Given the description of an element on the screen output the (x, y) to click on. 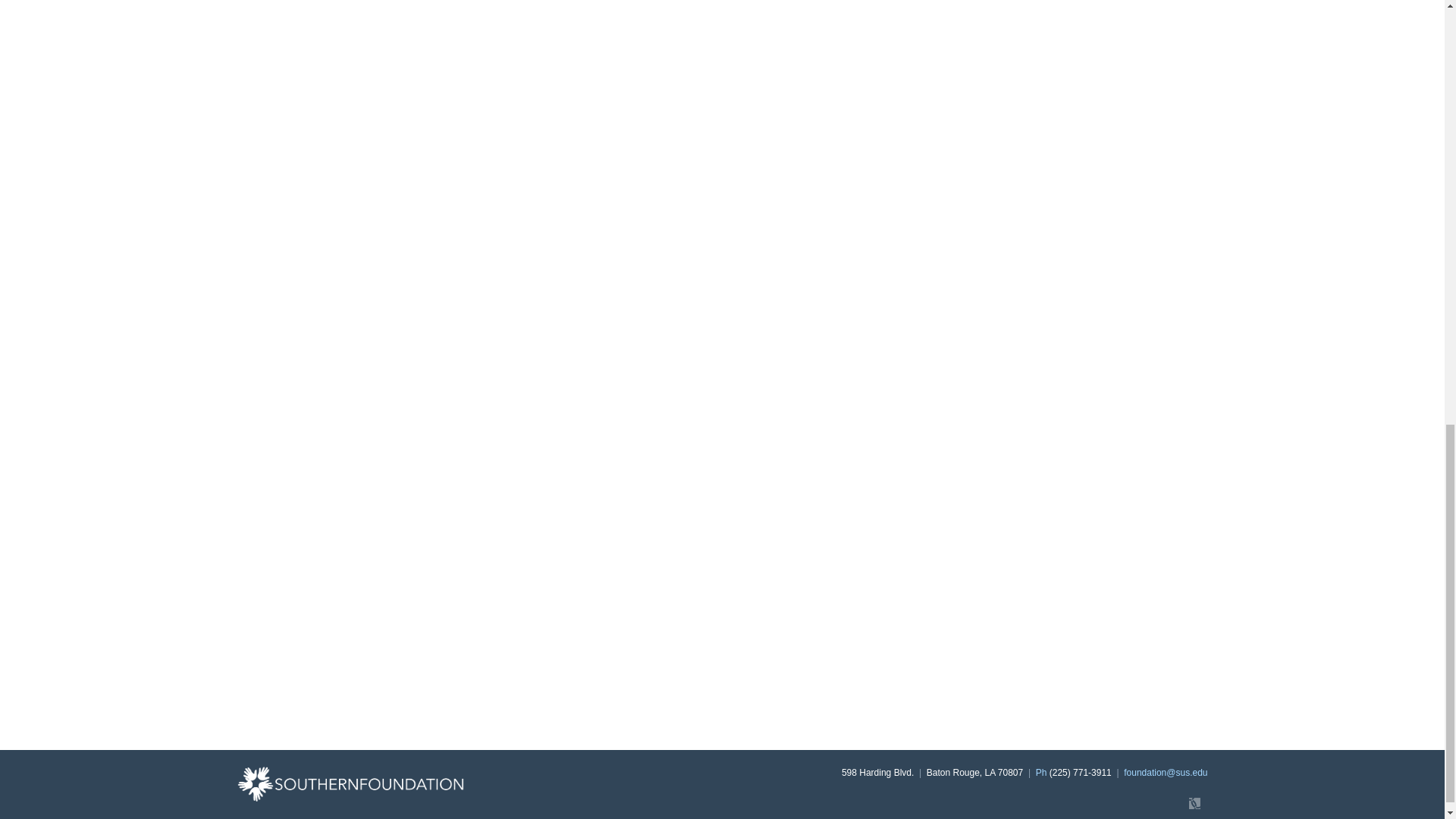
Site by Covalent Logic (1154, 803)
